Given the description of an element on the screen output the (x, y) to click on. 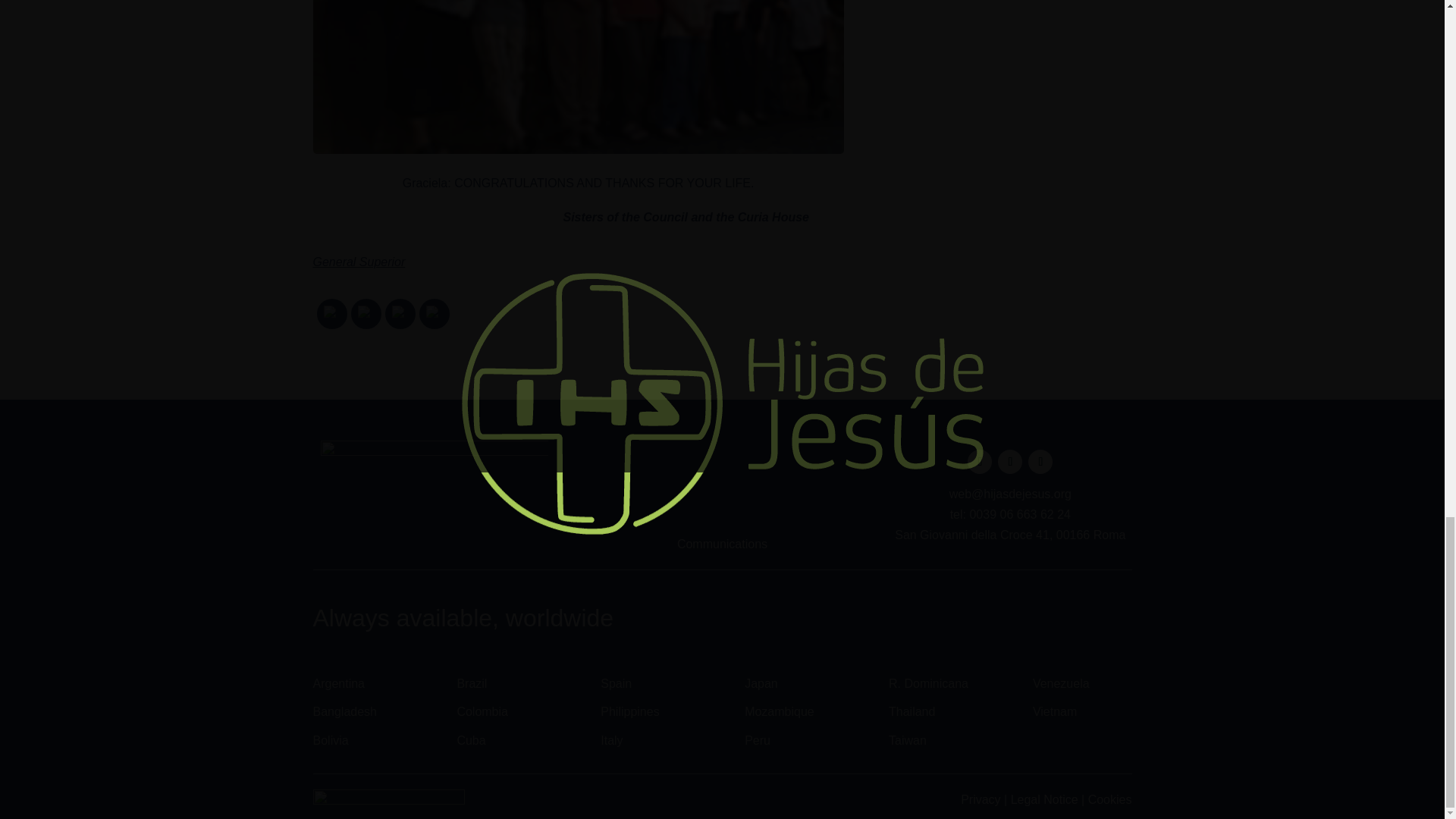
WhatsApp (434, 313)
Follow on Facebook (979, 461)
Facebook (366, 313)
Follow on X (1009, 461)
Twitter (399, 313)
RSS (331, 313)
General Superior (358, 261)
